Given the description of an element on the screen output the (x, y) to click on. 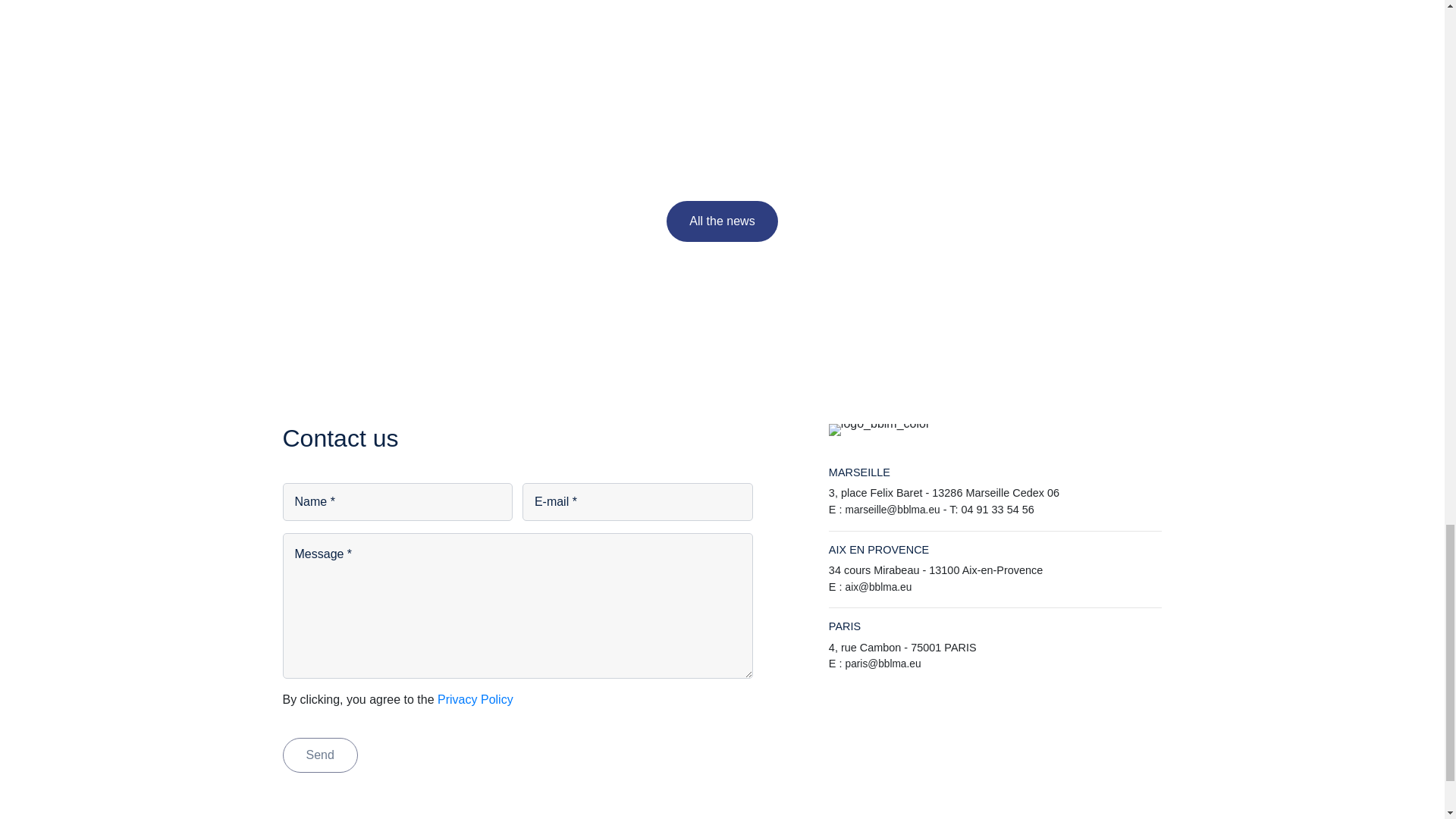
Privacy Policy (475, 698)
Send (319, 754)
All the news (721, 220)
